Given the description of an element on the screen output the (x, y) to click on. 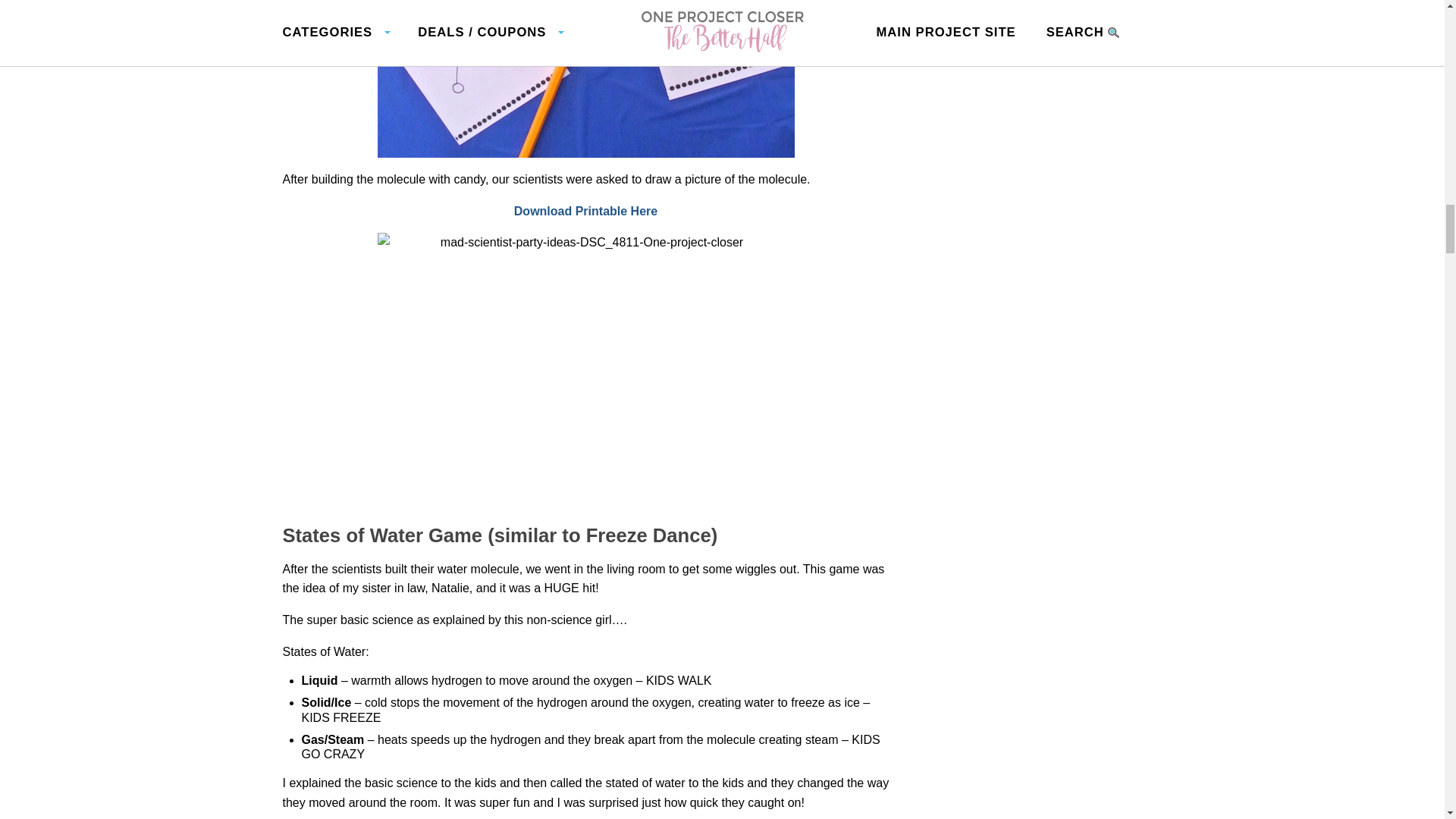
Download Printable Here (585, 210)
